Given the description of an element on the screen output the (x, y) to click on. 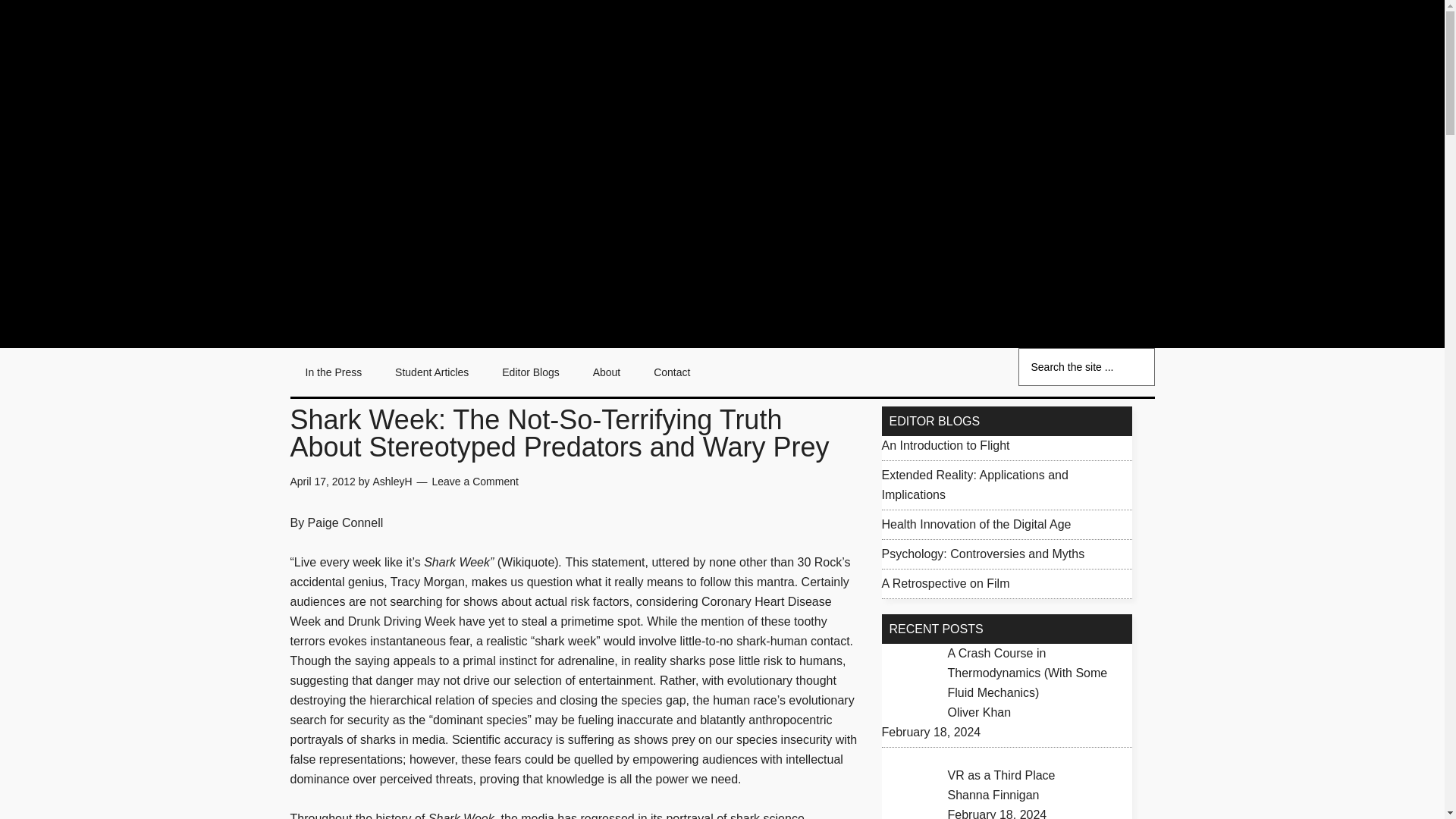
Student Articles (431, 372)
VR as a Third Place (1001, 775)
AshleyH (392, 481)
Psychology: Controversies and Myths (982, 553)
Editor Blogs (529, 372)
Extended Reality: Applications and Implications (973, 484)
In the Press (333, 372)
About (607, 372)
Health Innovation of the Digital Age (975, 523)
